Given the description of an element on the screen output the (x, y) to click on. 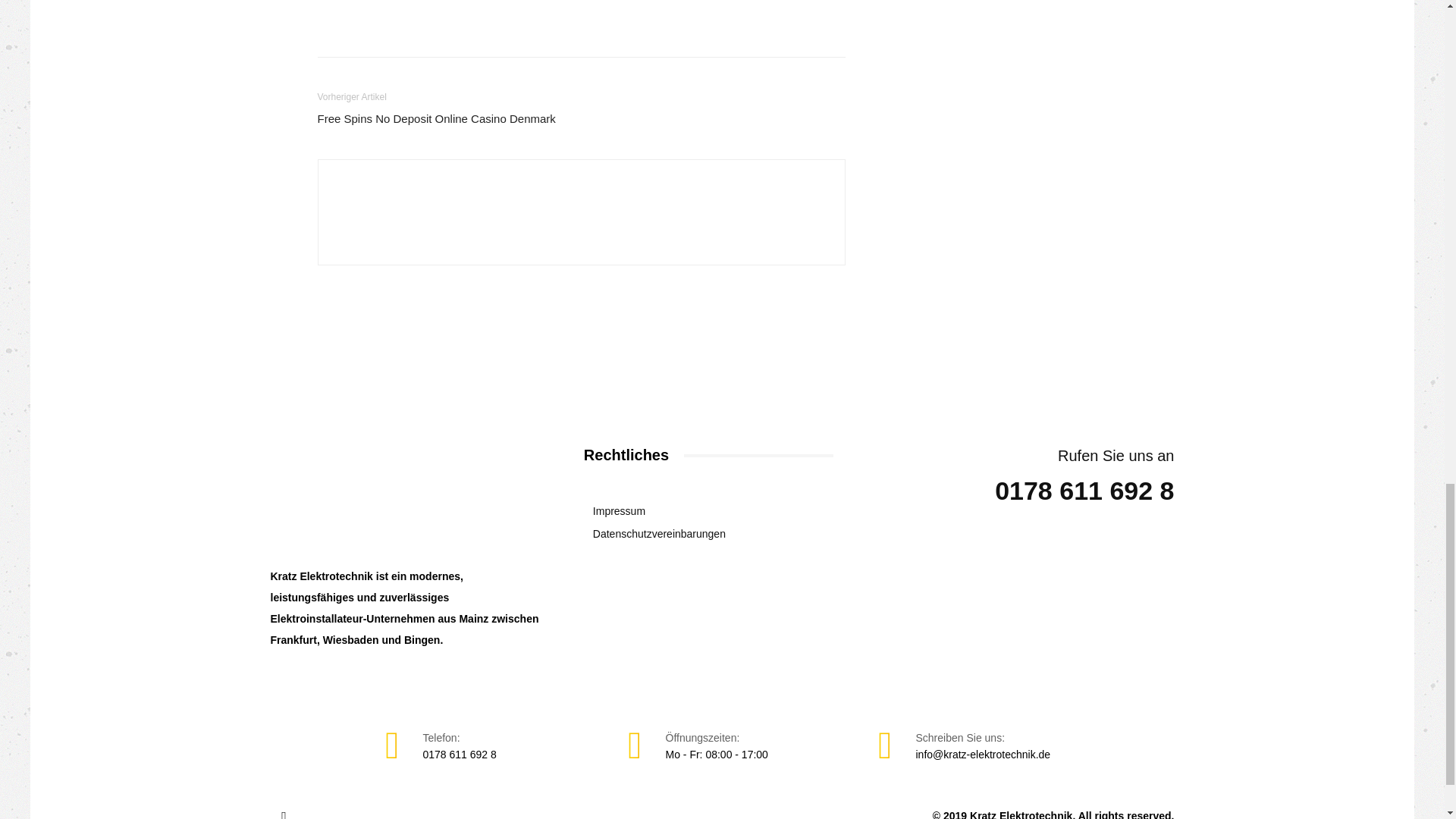
Impressum (712, 510)
0178 611 692 8 (1083, 492)
0178 611 692 8 (459, 754)
Datenschutzvereinbarungen (712, 533)
Free Spins No Deposit Online Casino Denmark (435, 118)
